Given the description of an element on the screen output the (x, y) to click on. 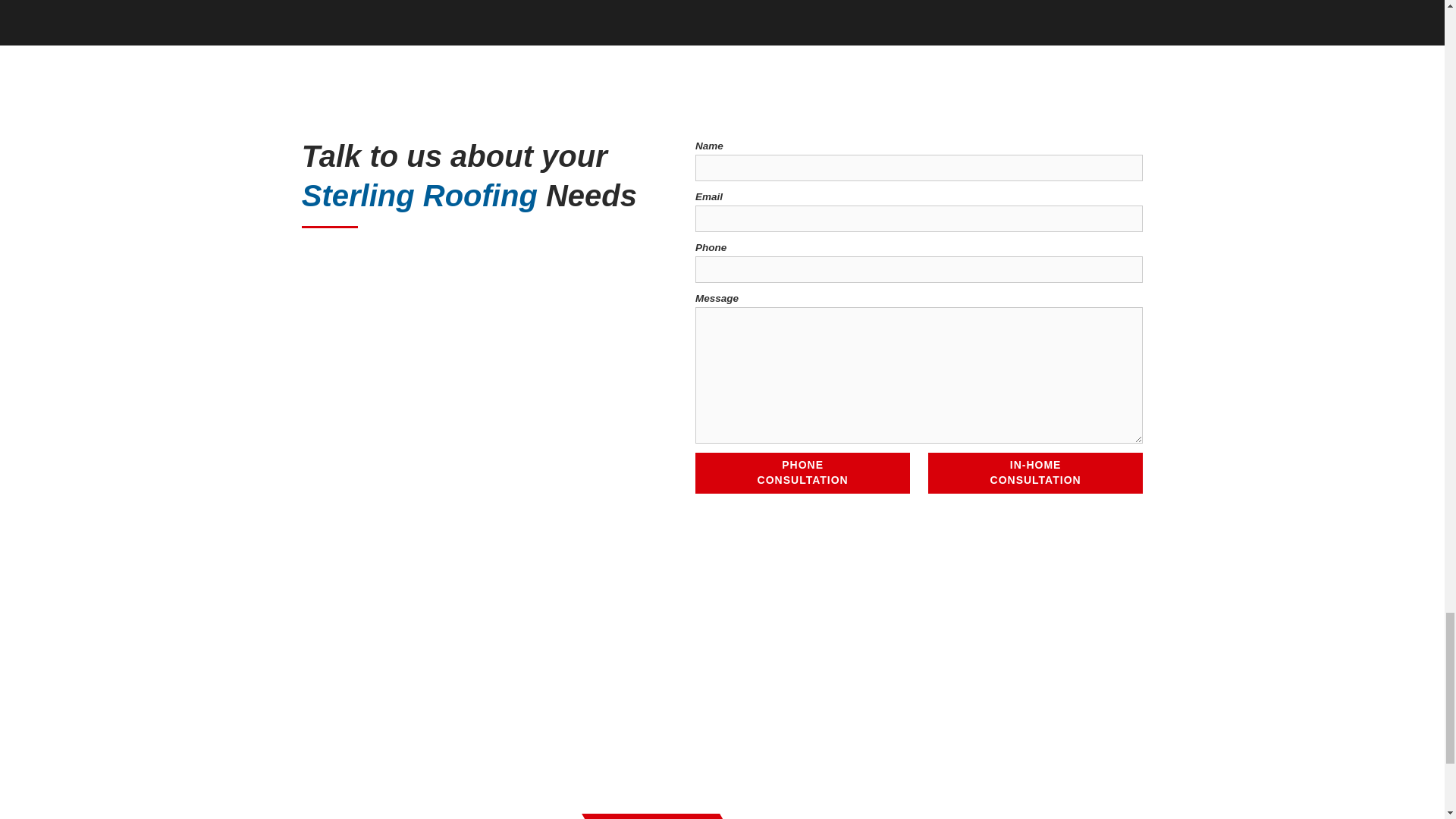
Sterling Roofing (721, 707)
ABOUT US (802, 472)
